Given the description of an element on the screen output the (x, y) to click on. 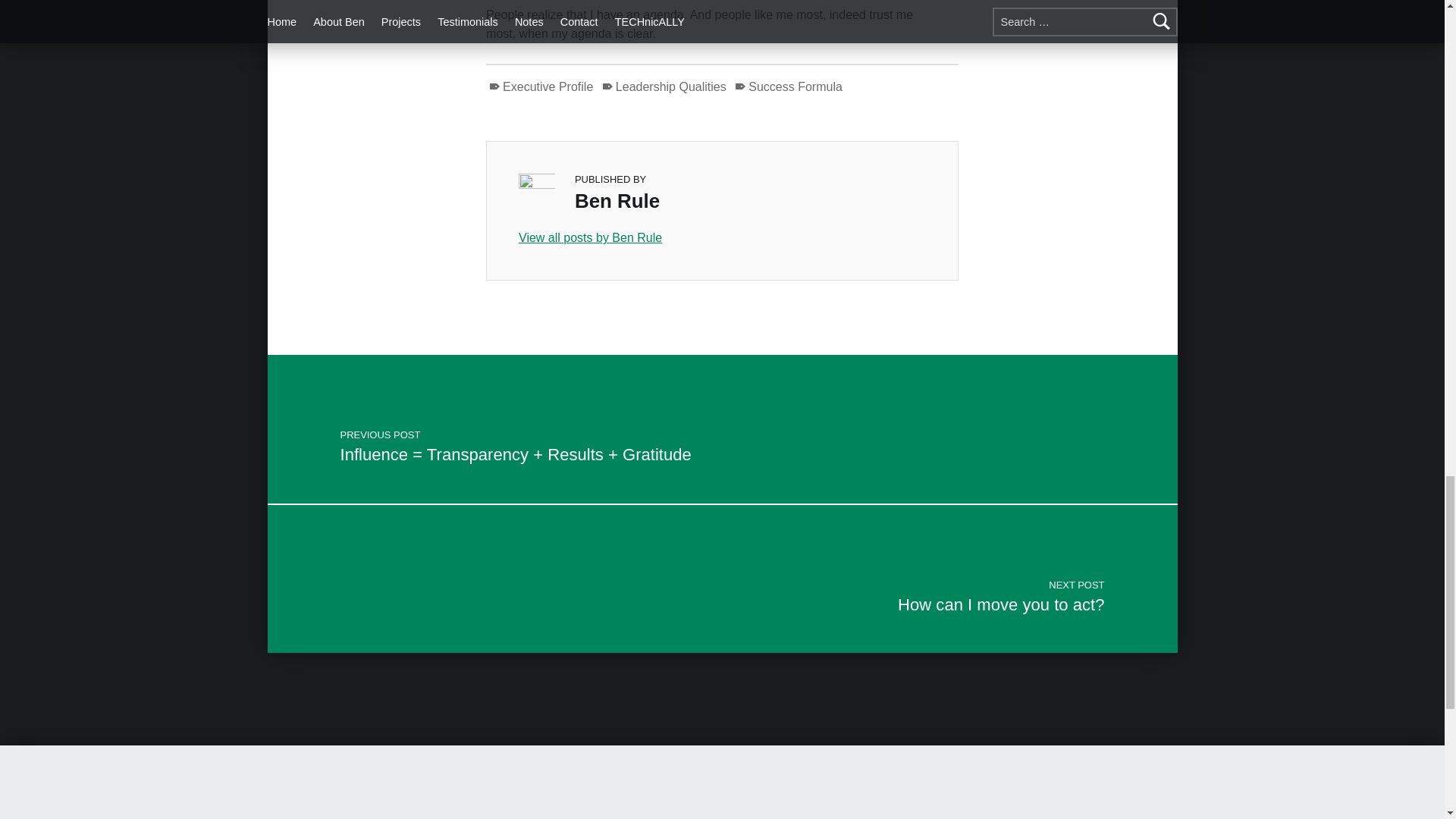
Success Formula (722, 238)
Executive Profile (788, 86)
Leadership Qualities (539, 86)
